Given the description of an element on the screen output the (x, y) to click on. 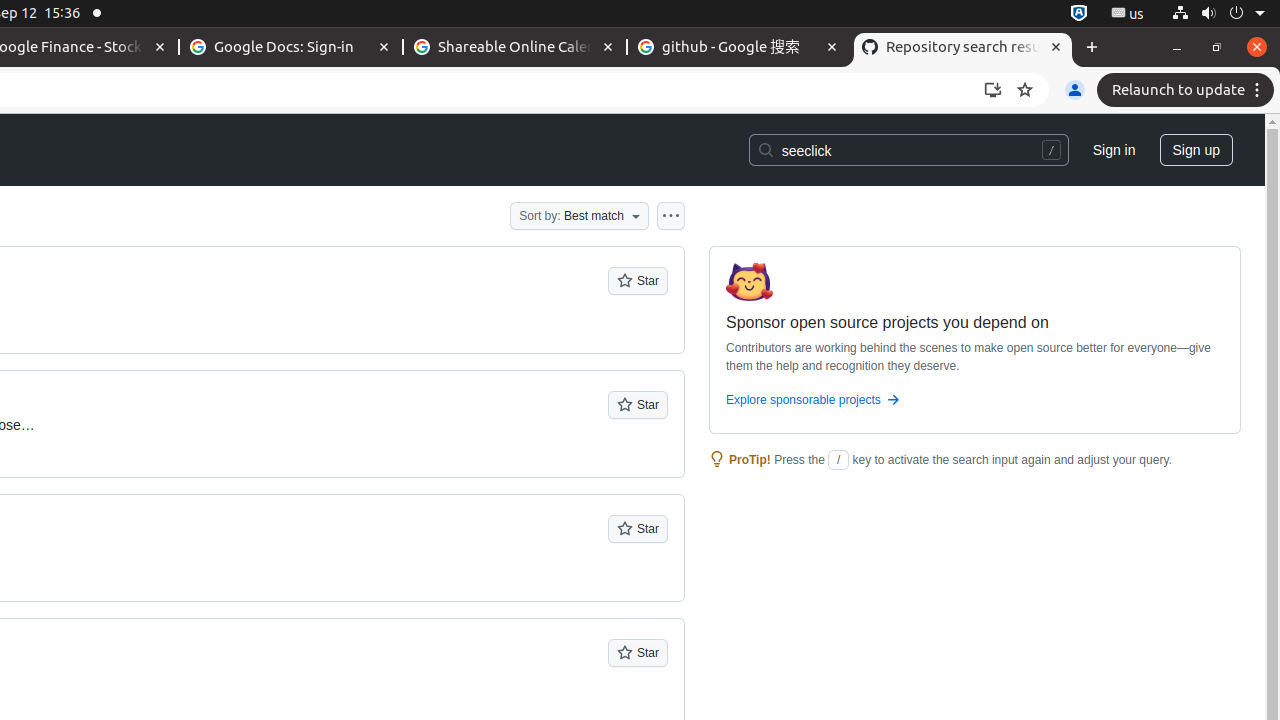
Relaunch to update Element type: push-button (1188, 90)
You Element type: push-button (1075, 90)
